Given the description of an element on the screen output the (x, y) to click on. 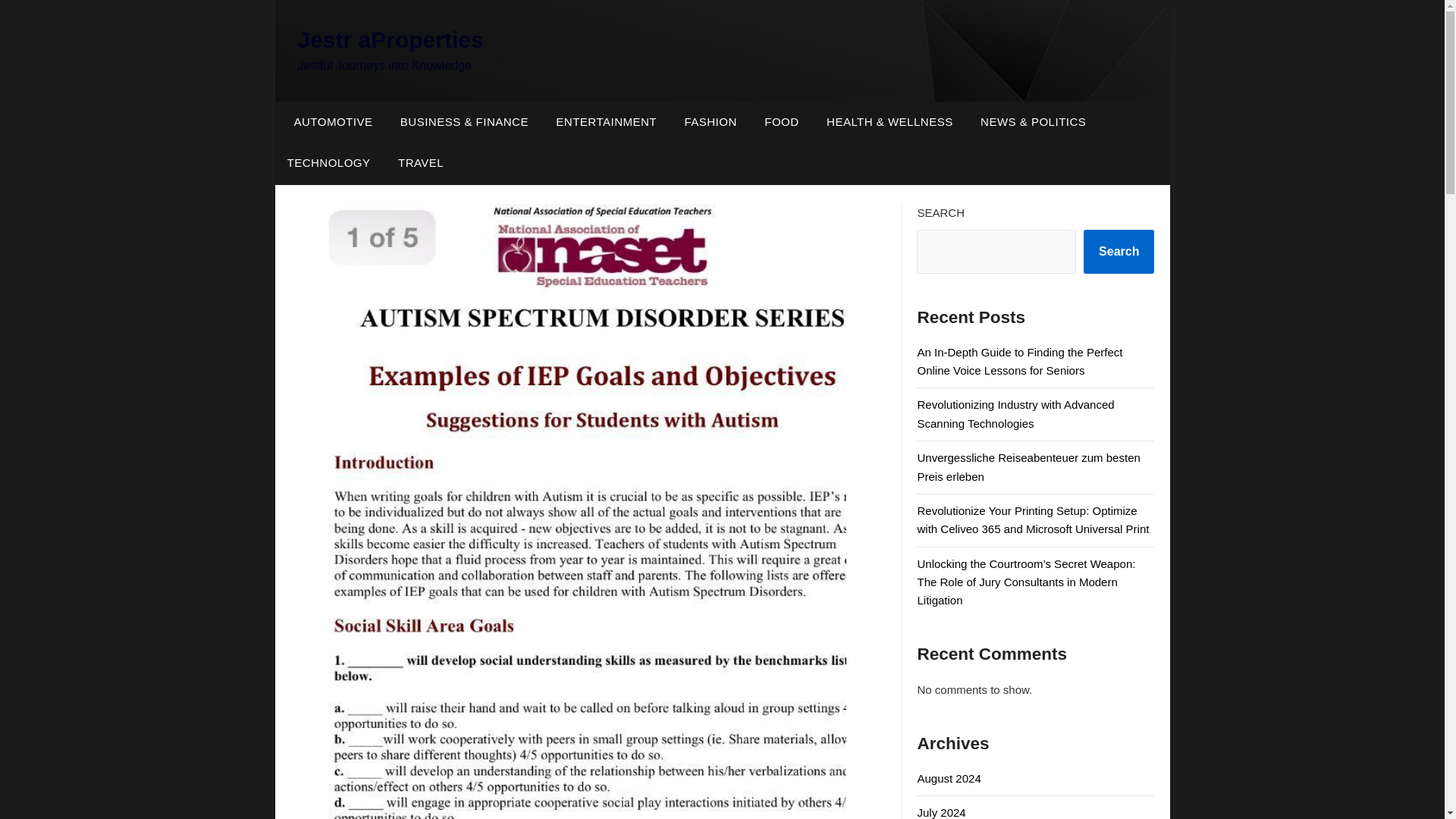
Jestr aProperties (390, 39)
FASHION (709, 121)
ENTERTAINMENT (605, 121)
TECHNOLOGY (328, 162)
TRAVEL (420, 162)
Unvergessliche Reiseabenteuer zum besten Preis erleben (1028, 466)
Revolutionizing Industry with Advanced Scanning Technologies (1015, 413)
August 2024 (948, 778)
Search (1118, 251)
AUTOMOTIVE (329, 121)
July 2024 (941, 812)
FOOD (781, 121)
